Given the description of an element on the screen output the (x, y) to click on. 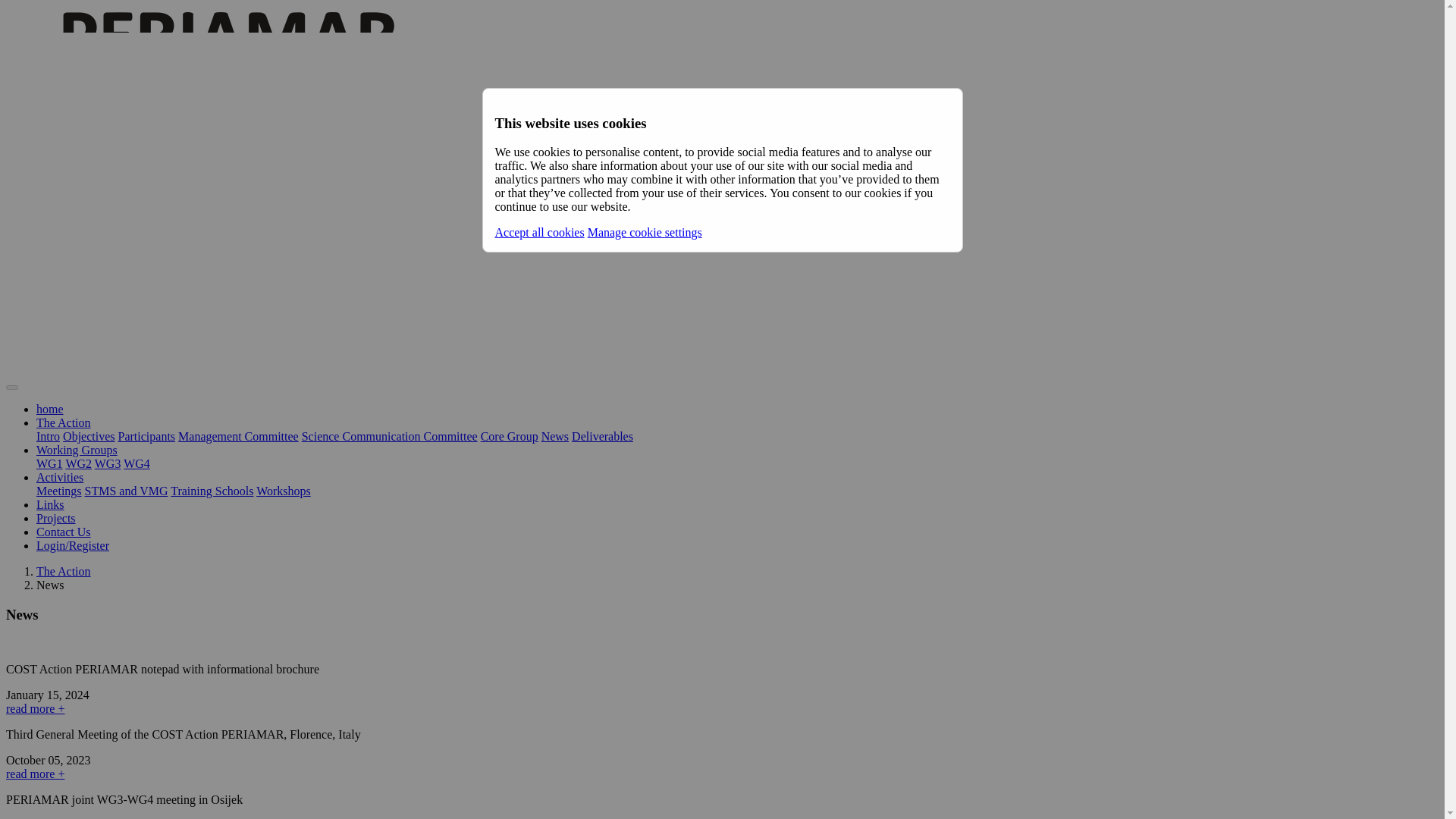
Activities (59, 477)
WG4 (136, 463)
Management Committee (237, 436)
WG2 (78, 463)
Workshops (283, 490)
Contact Us (63, 531)
Deliverables (602, 436)
Participants (146, 436)
Training Schools (211, 490)
Science Communication Committee (389, 436)
home (50, 408)
Contact Us (63, 531)
Objectives (88, 436)
Projects (55, 517)
WG3 (107, 463)
